Given the description of an element on the screen output the (x, y) to click on. 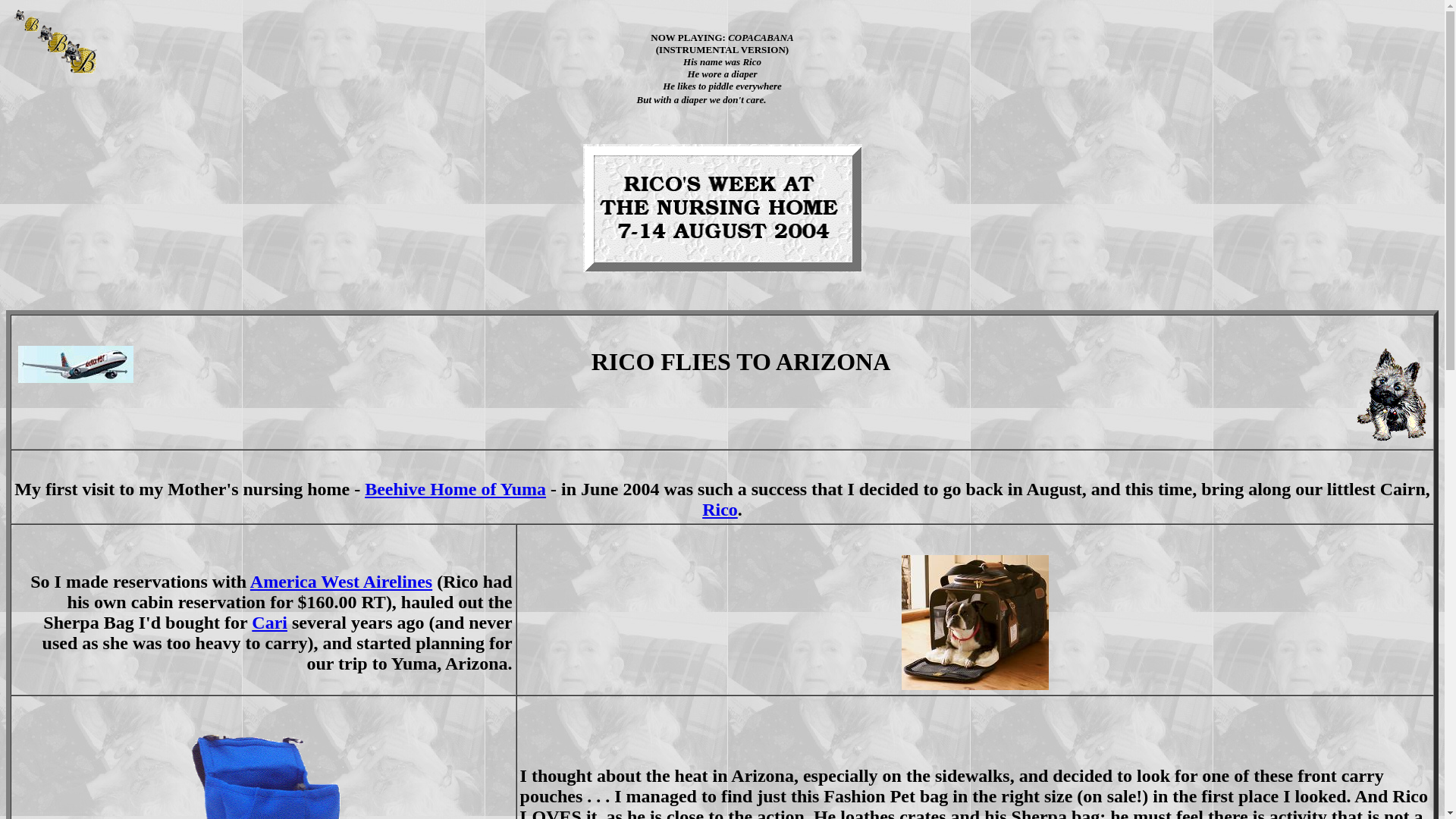
Beehive Home of Yuma (455, 488)
America West Airelines (341, 581)
Cari (268, 622)
Rico (719, 509)
